Given the description of an element on the screen output the (x, y) to click on. 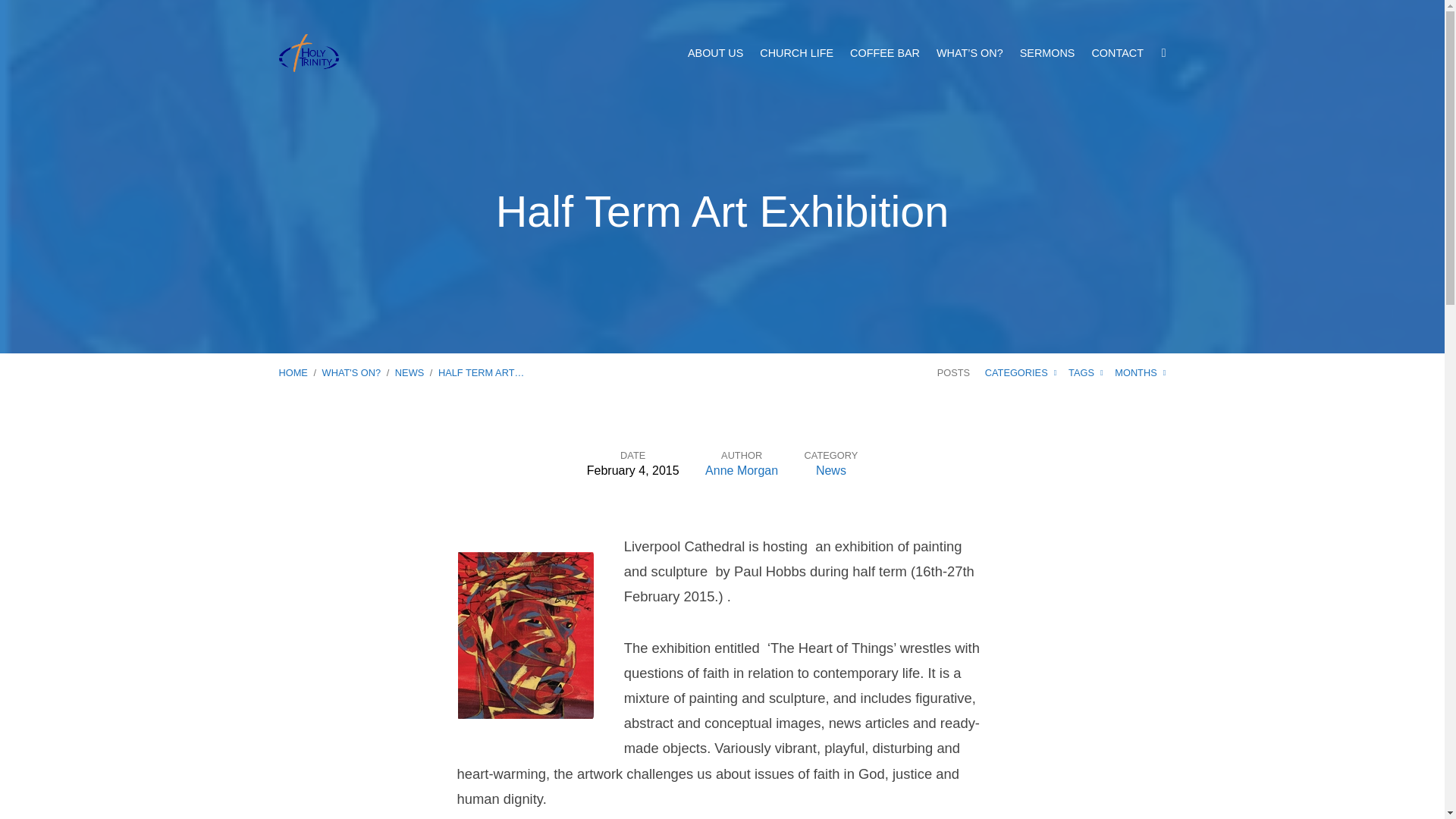
HOME (293, 372)
WHAT'S ON? (351, 372)
CONTACT (1116, 52)
SERMONS (1047, 52)
CATEGORIES (1021, 372)
NEWS (408, 372)
POSTS (953, 372)
CHURCH LIFE (796, 52)
COFFEE BAR (885, 52)
ABOUT US (714, 52)
